Given the description of an element on the screen output the (x, y) to click on. 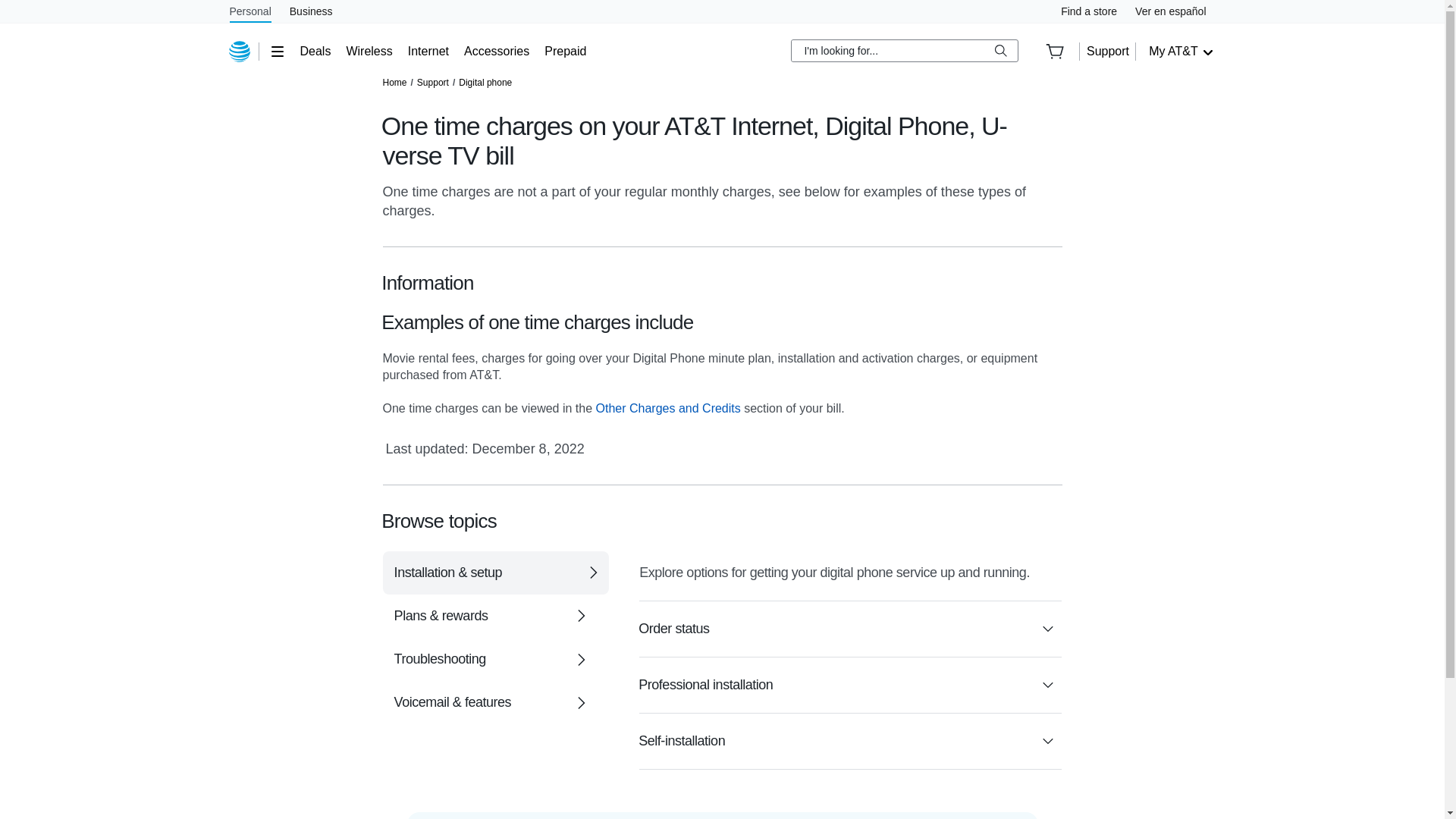
Digital phone (485, 81)
Home (393, 81)
Professional installation (850, 684)
Accessories (496, 51)
Business (311, 11)
Order status (850, 628)
Other Charges and Credits (668, 408)
Support (432, 81)
Prepaid (565, 51)
Find a store (1088, 11)
